Given the description of an element on the screen output the (x, y) to click on. 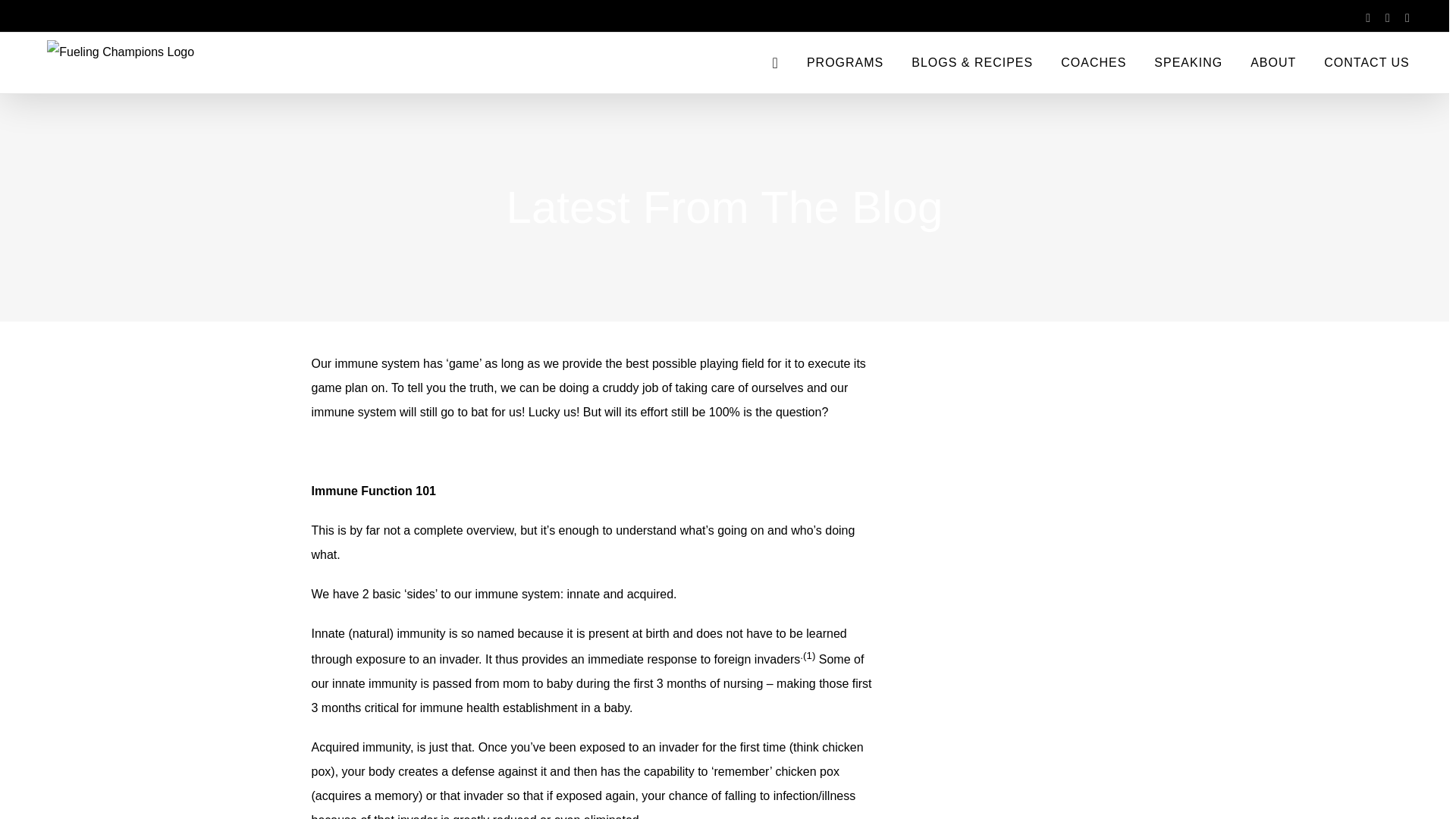
COACHES (1093, 62)
CONTACT US (1366, 62)
PROGRAMS (844, 62)
SPEAKING (1188, 62)
